Given the description of an element on the screen output the (x, y) to click on. 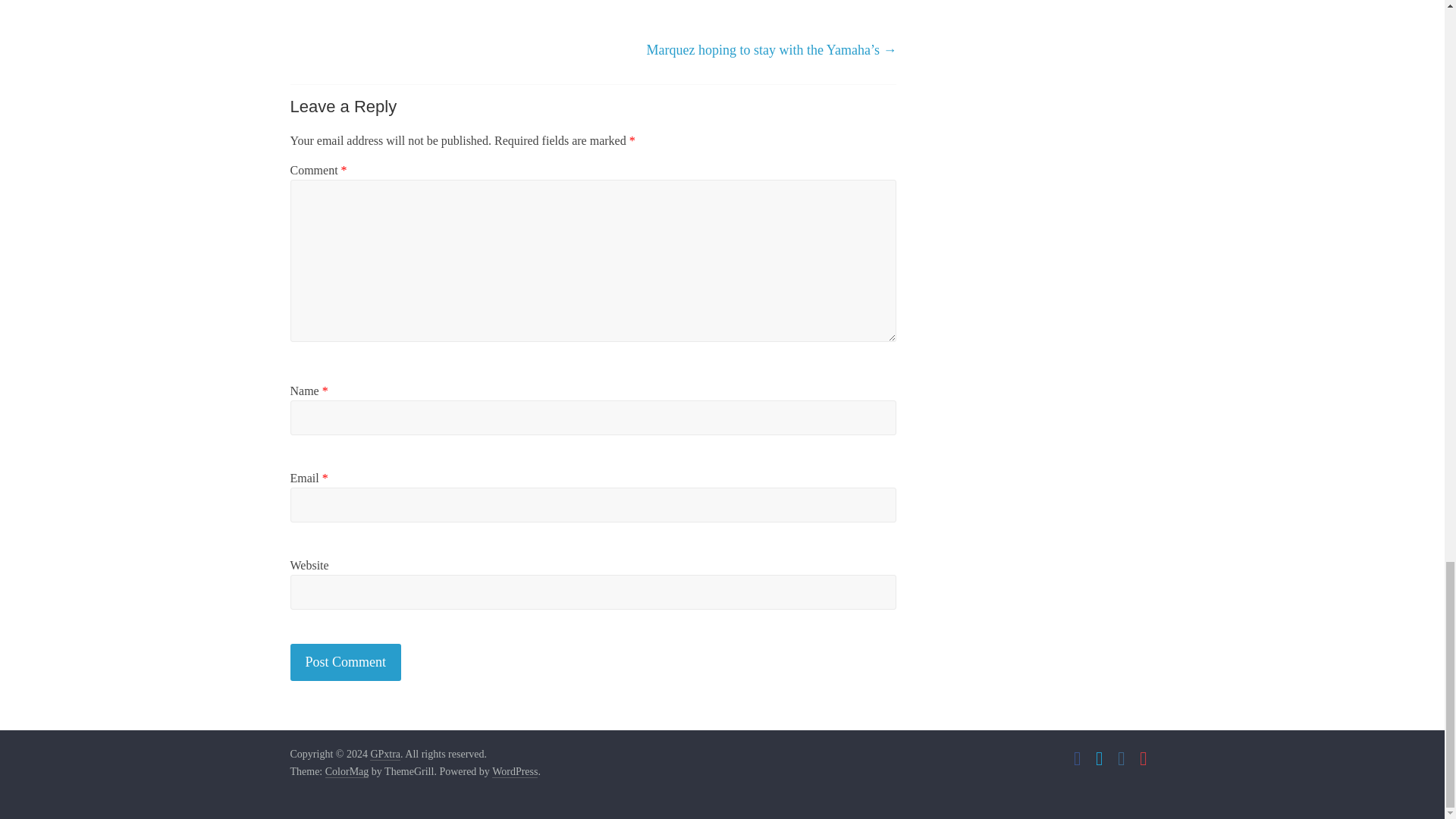
Post Comment (345, 661)
WordPress (514, 771)
GPxtra (384, 753)
ColorMag (346, 771)
